Given the description of an element on the screen output the (x, y) to click on. 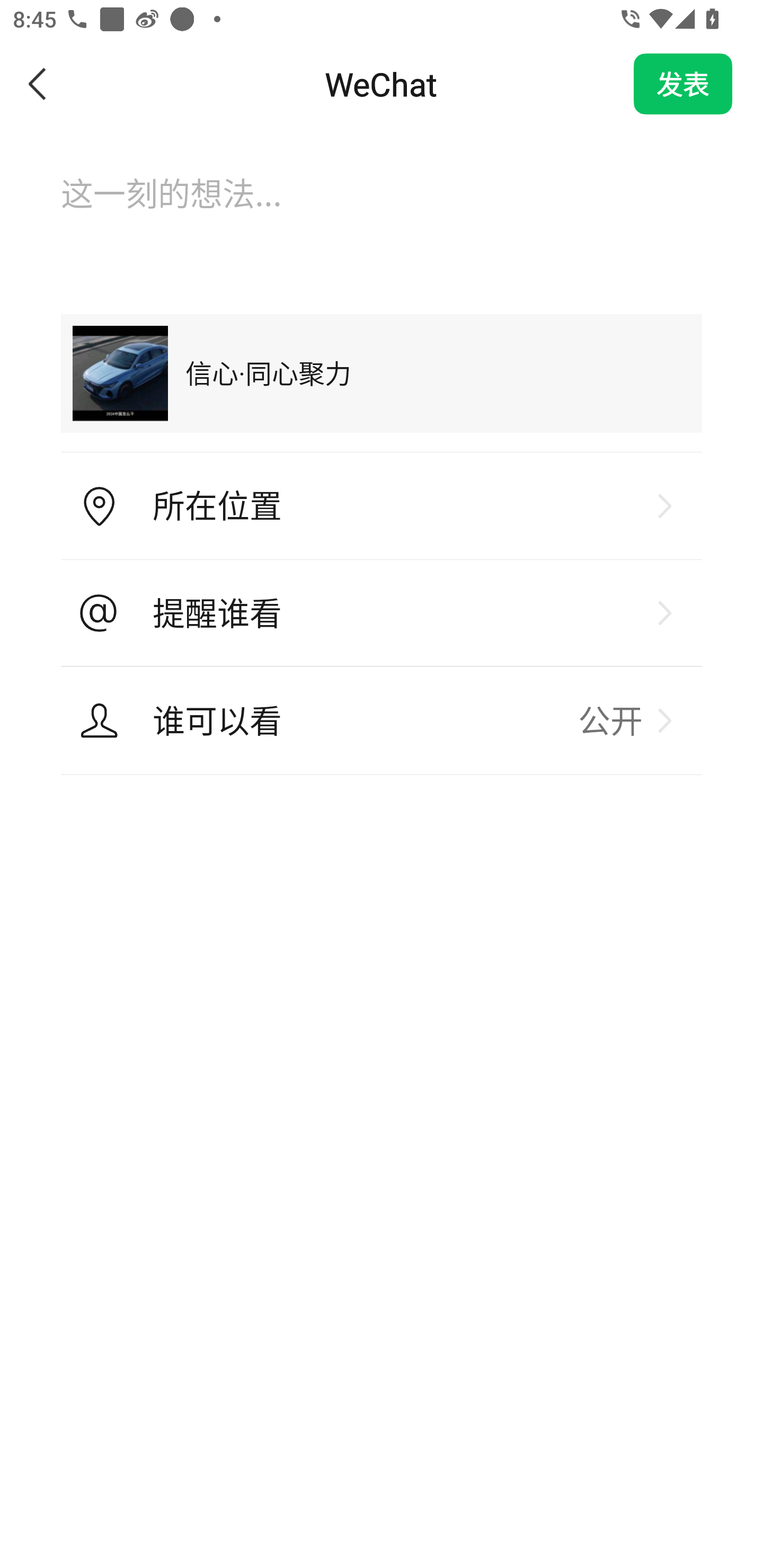
返回 (38, 83)
发表 (683, 83)
这一刻的想法... (381, 211)
信心·同心聚力 (381, 372)
所在位置 (381, 506)
提醒谁看  提醒谁看 (381, 612)
谁可以看 公开 (381, 720)
